Given the description of an element on the screen output the (x, y) to click on. 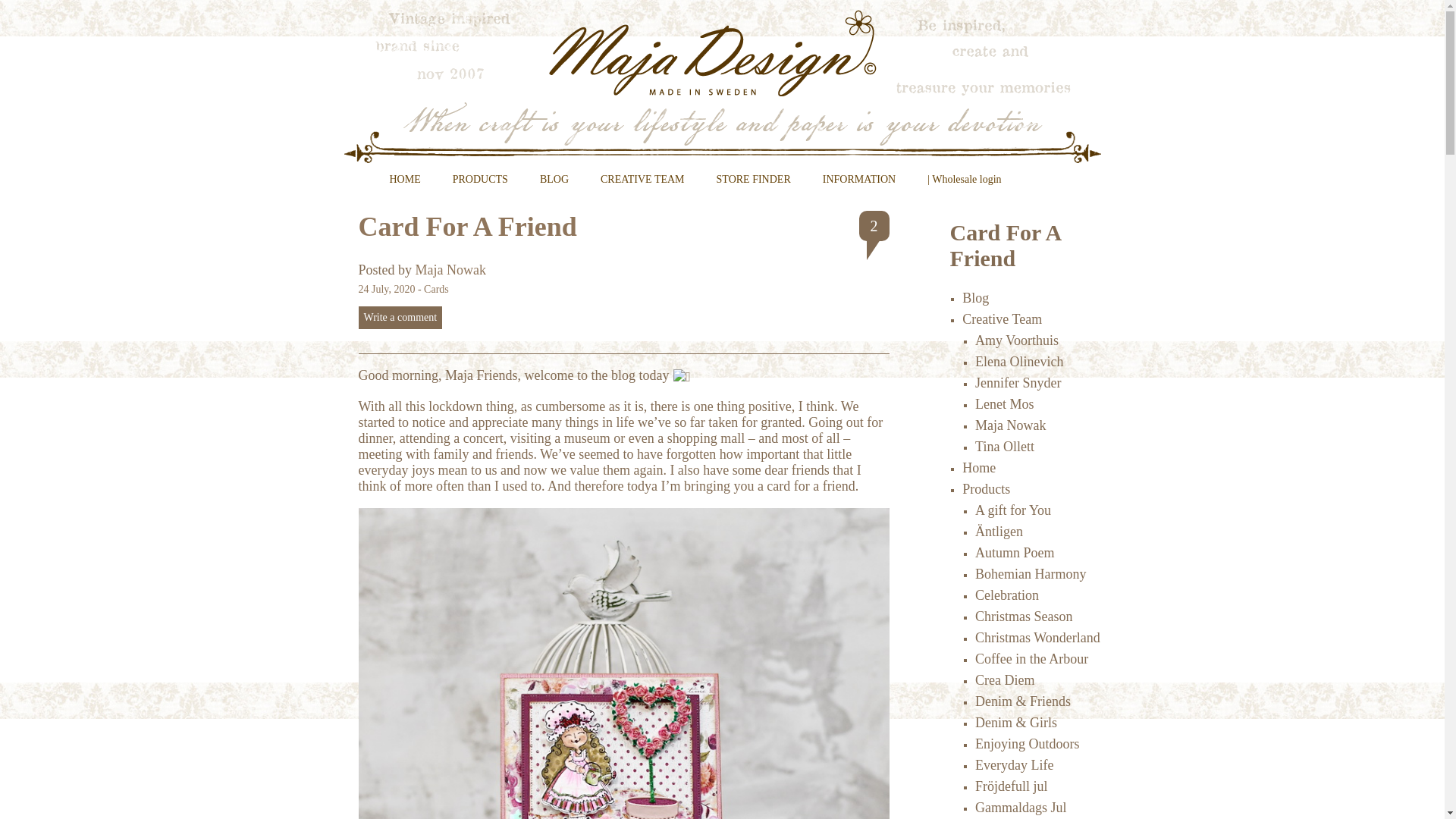
Maja Nowak (1010, 425)
2 (873, 225)
24 July, 2020 (386, 288)
Creative Team (1002, 319)
Write a comment (400, 317)
INFORMATION (858, 185)
HOME (404, 185)
PRODUCTS (479, 185)
Products (986, 488)
Card For A Friend (467, 226)
Maja Nowak (450, 269)
Comments (873, 225)
Comment (400, 317)
CREATIVE TEAM (642, 185)
BLOG (553, 185)
